Given the description of an element on the screen output the (x, y) to click on. 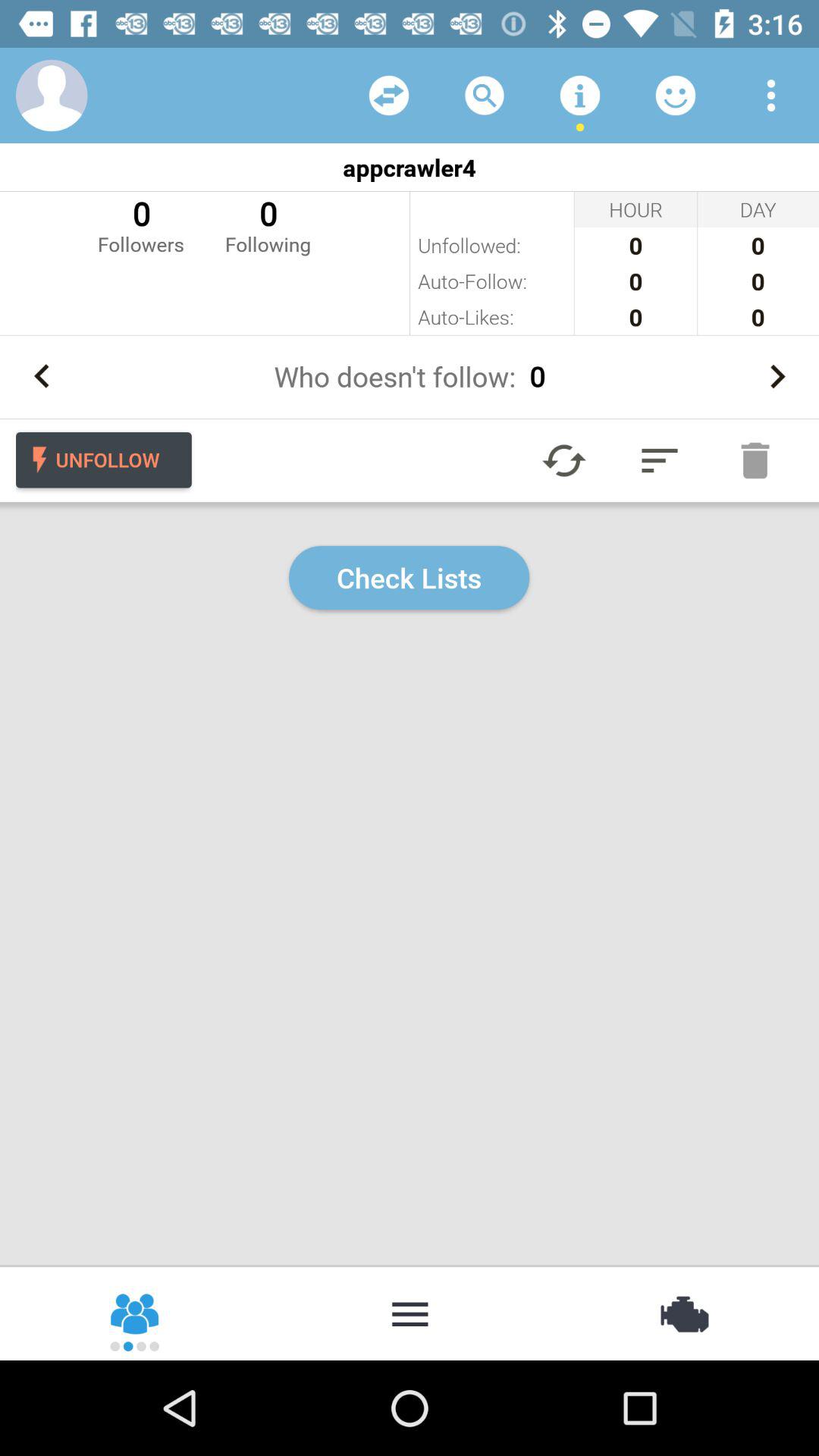
to search (484, 95)
